Given the description of an element on the screen output the (x, y) to click on. 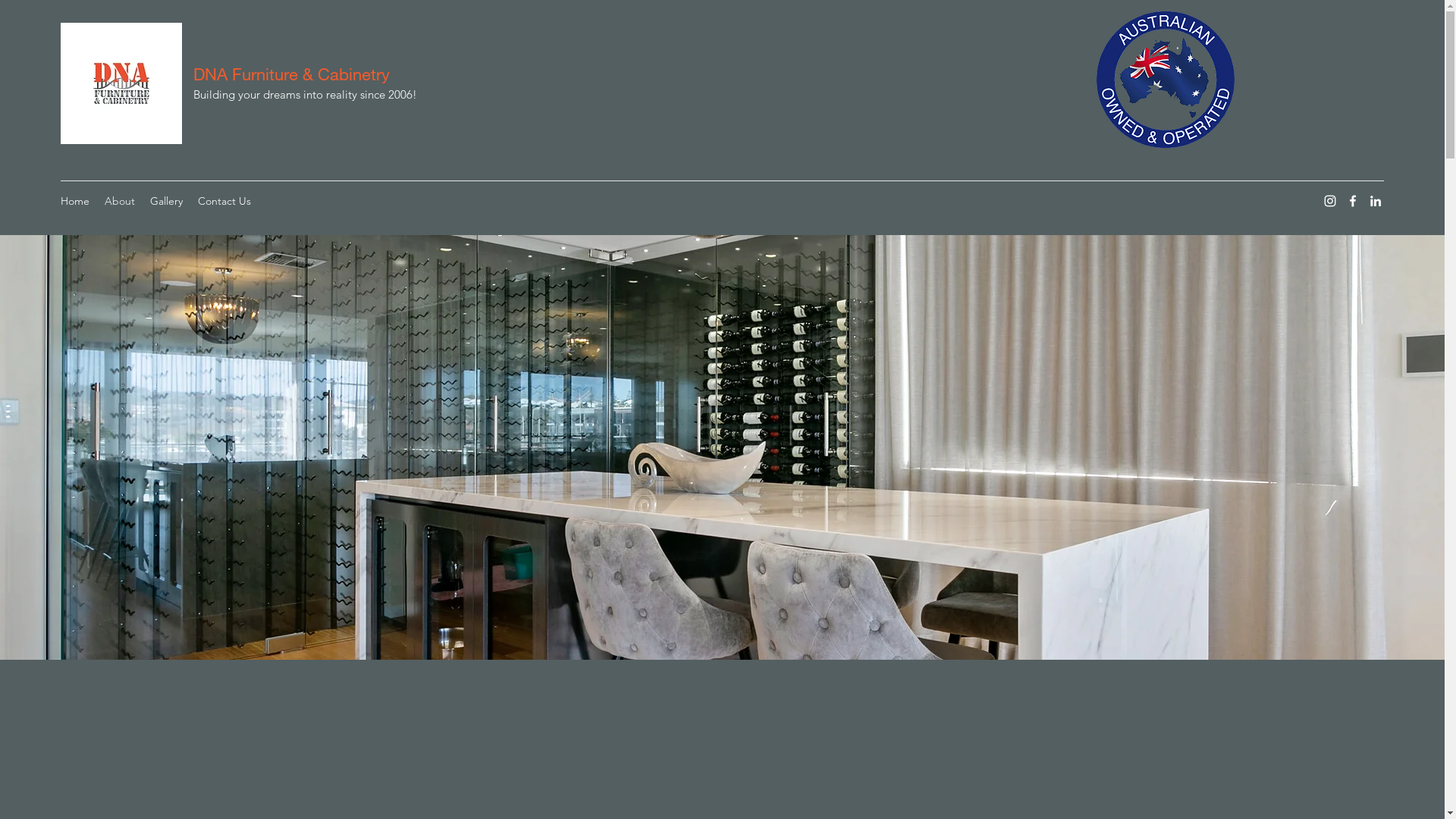
Contact Us Element type: text (224, 200)
Gallery Element type: text (166, 200)
Home Element type: text (75, 200)
About Element type: text (119, 200)
australian-owned-operated-logo.png Element type: hover (1164, 79)
